Given the description of an element on the screen output the (x, y) to click on. 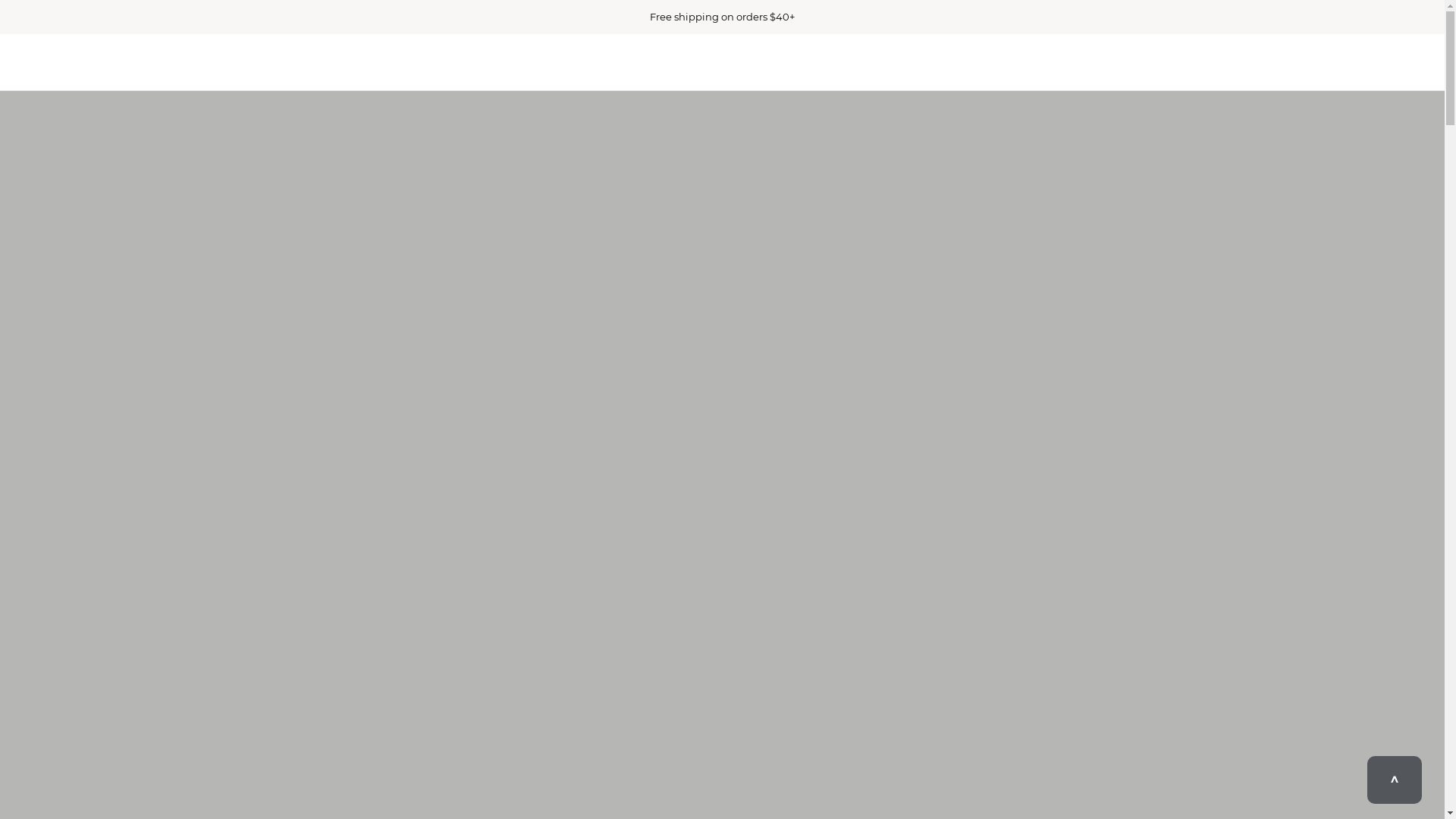
^ Element type: text (1394, 779)
